Given the description of an element on the screen output the (x, y) to click on. 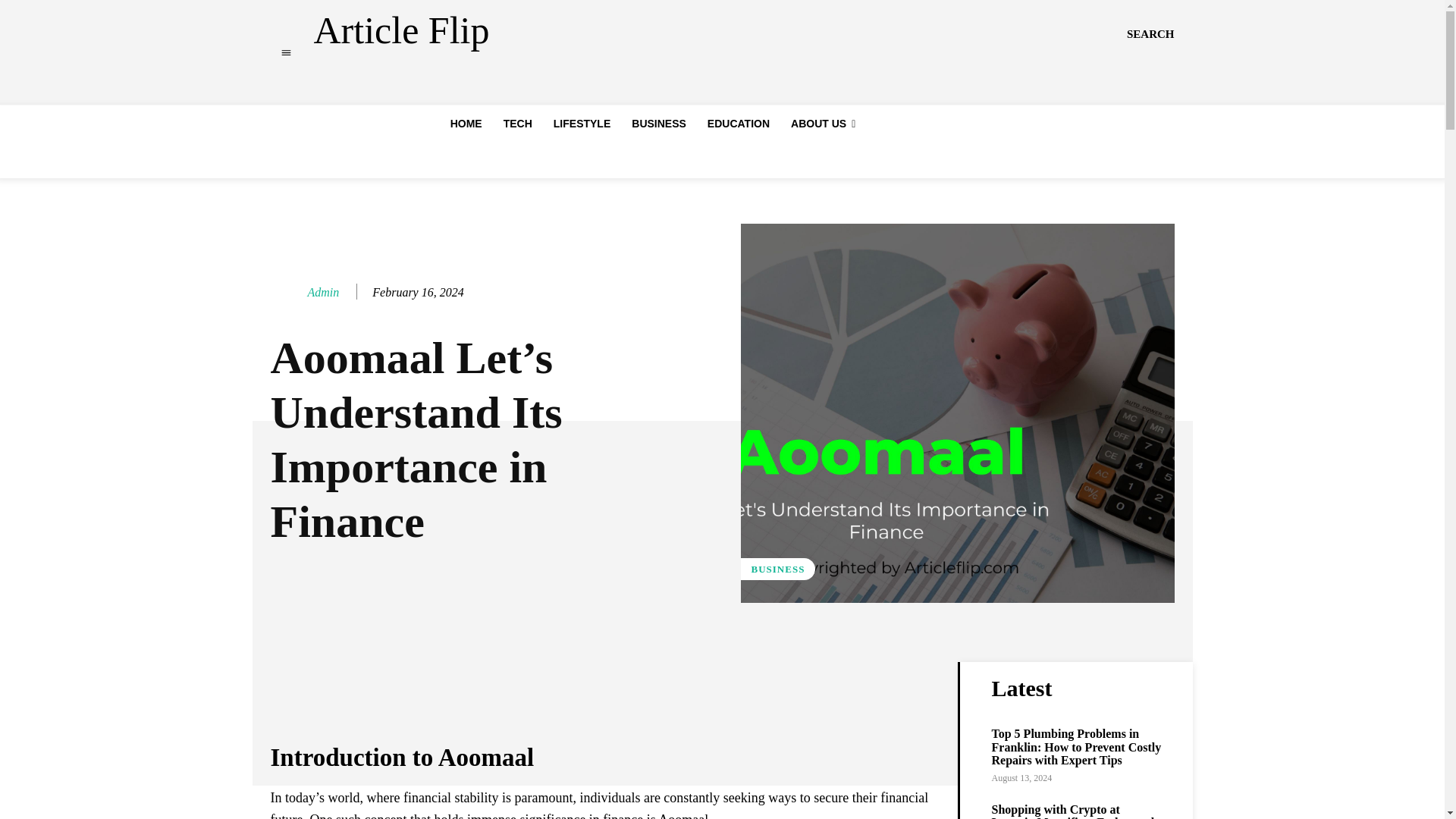
Admin (286, 292)
Article Flip (401, 30)
HOME (466, 123)
